Given the description of an element on the screen output the (x, y) to click on. 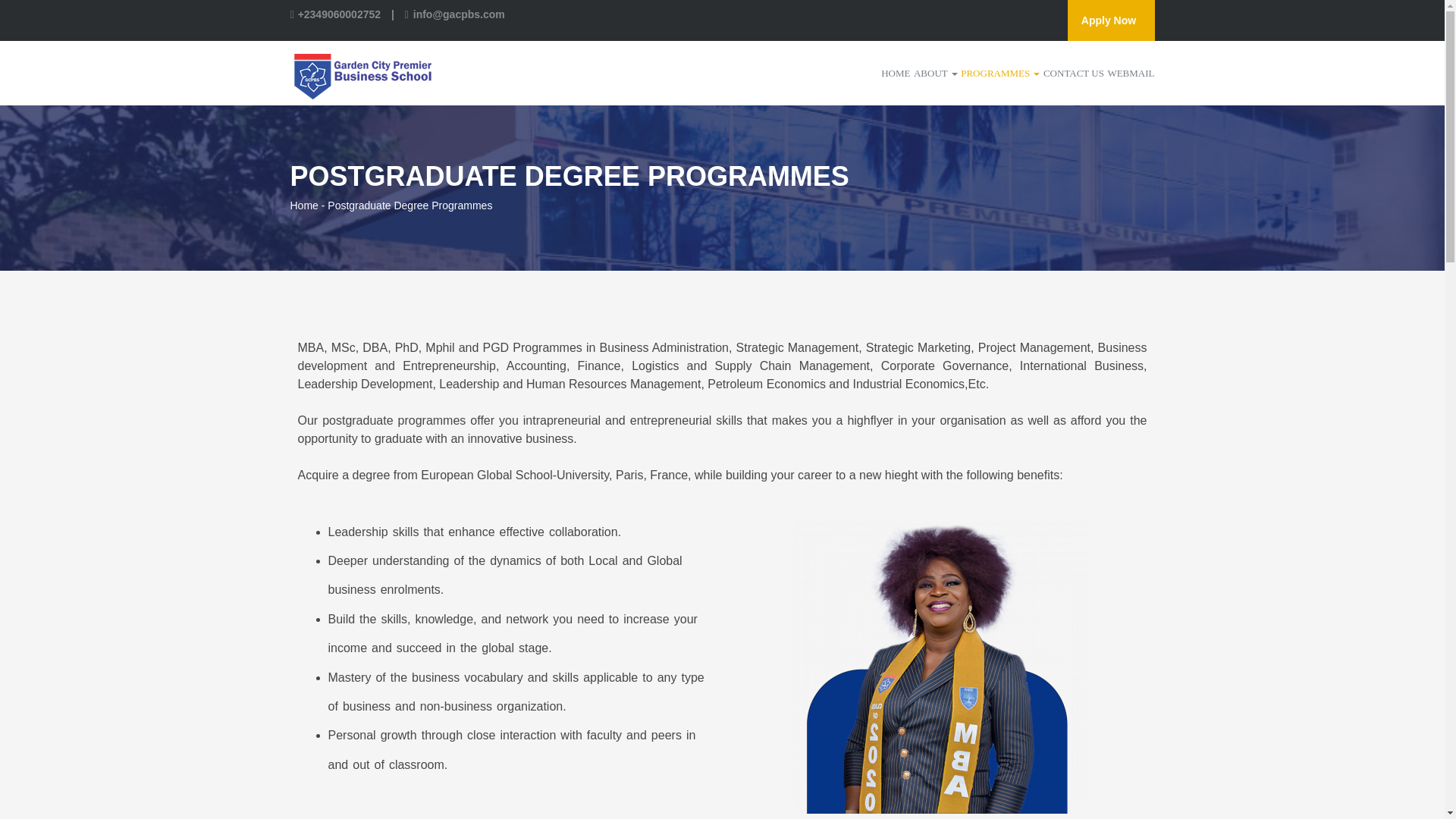
PROGRAMMES (999, 73)
PROGRAMMES (999, 73)
Home (303, 205)
Garden City Premier Business School (362, 72)
CONTACT US (1073, 73)
Apply Now (1110, 20)
CONTACT US (1073, 73)
